Given the description of an element on the screen output the (x, y) to click on. 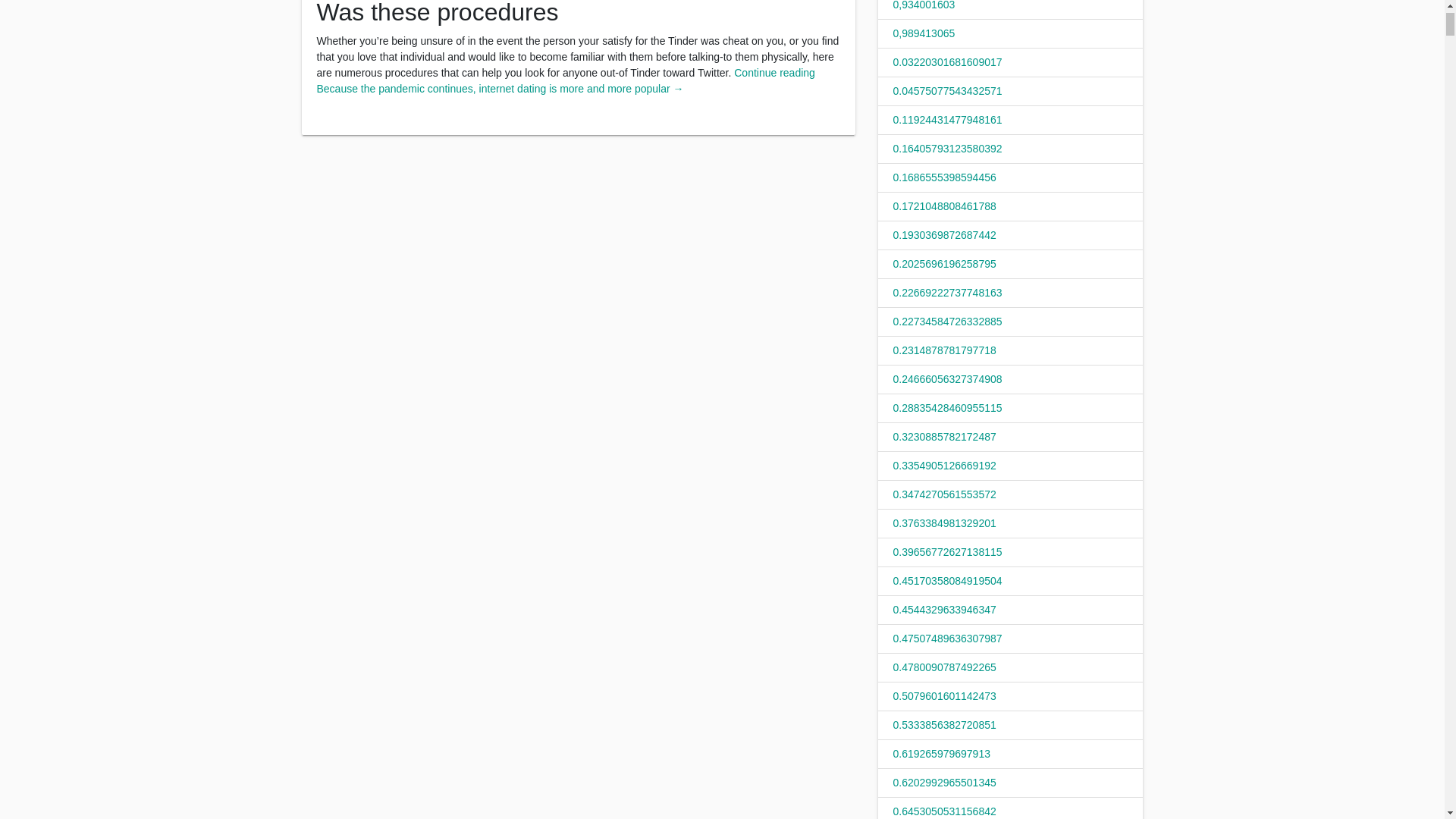
0,989413065 (924, 33)
0.03220301681609017 (948, 61)
0,934001603 (924, 5)
